Given the description of an element on the screen output the (x, y) to click on. 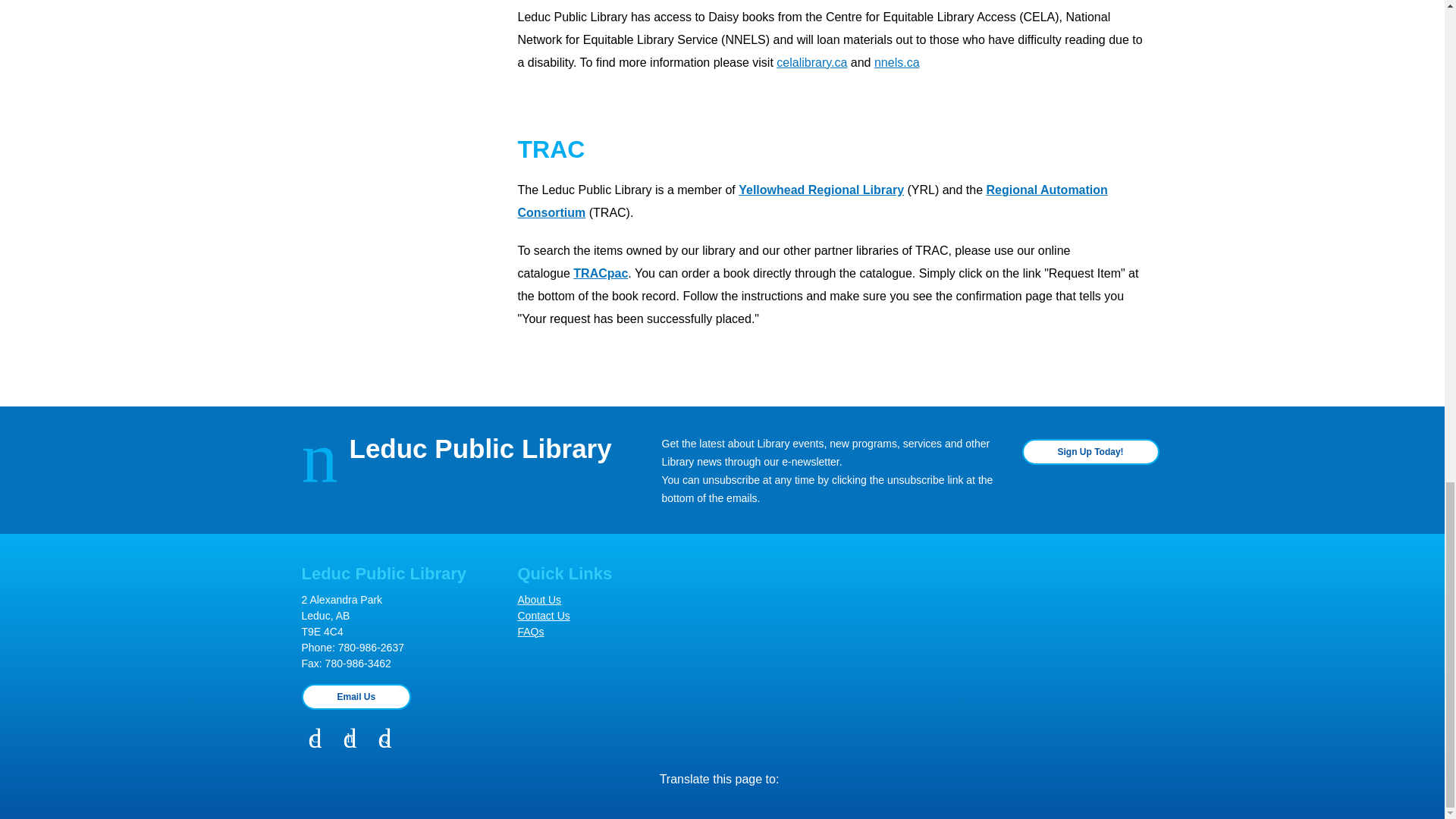
Facebook (315, 738)
Instagram (350, 738)
Youtube (384, 738)
